Given the description of an element on the screen output the (x, y) to click on. 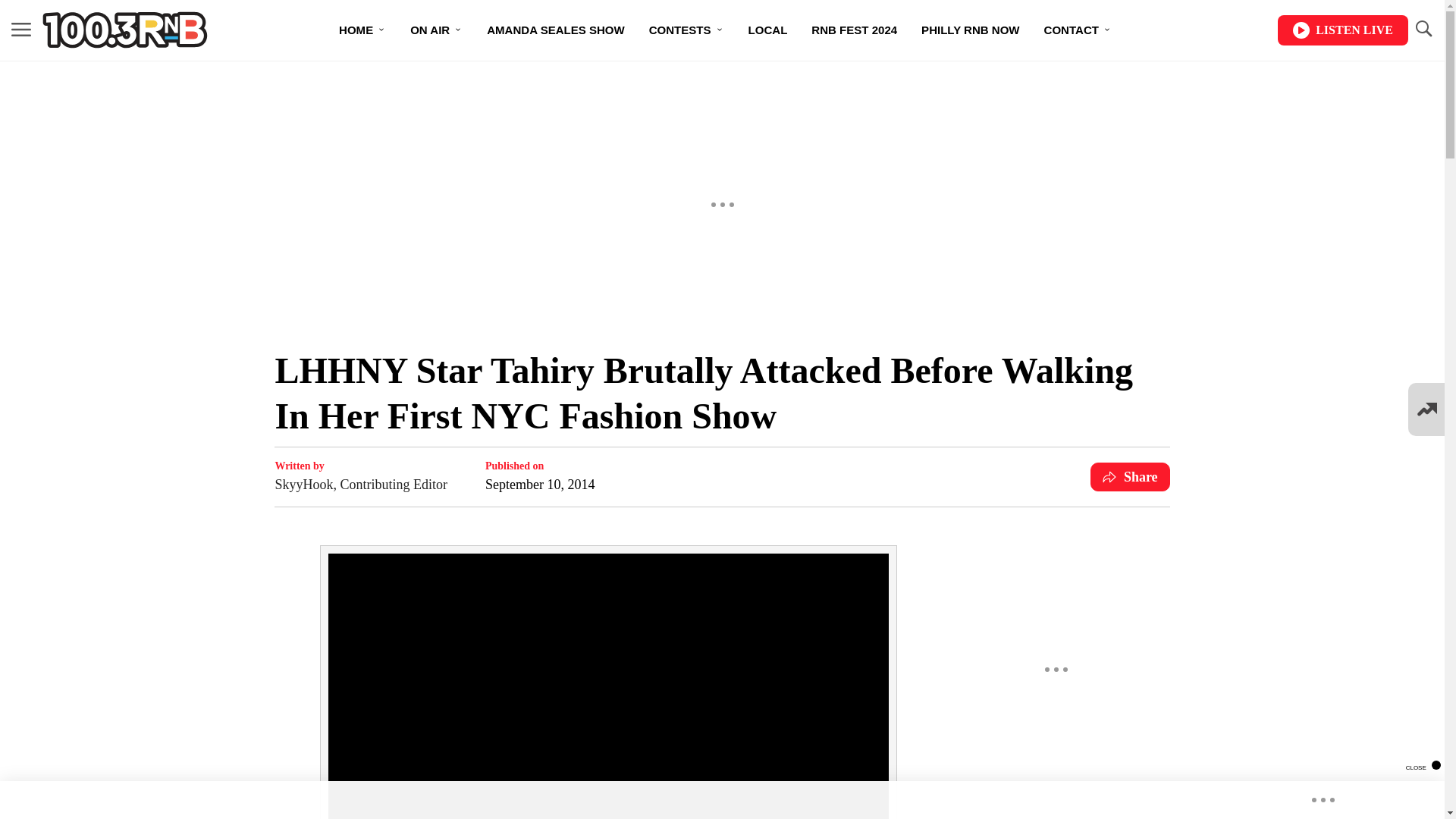
ON AIR (435, 30)
SkyyHook, Contributing Editor (360, 484)
MENU (20, 30)
CONTACT (1078, 30)
TOGGLE SEARCH (1422, 28)
MENU (20, 29)
AMANDA SEALES SHOW (555, 30)
PHILLY RNB NOW (969, 30)
TOGGLE SEARCH (1422, 30)
LOCAL (767, 30)
